Given the description of an element on the screen output the (x, y) to click on. 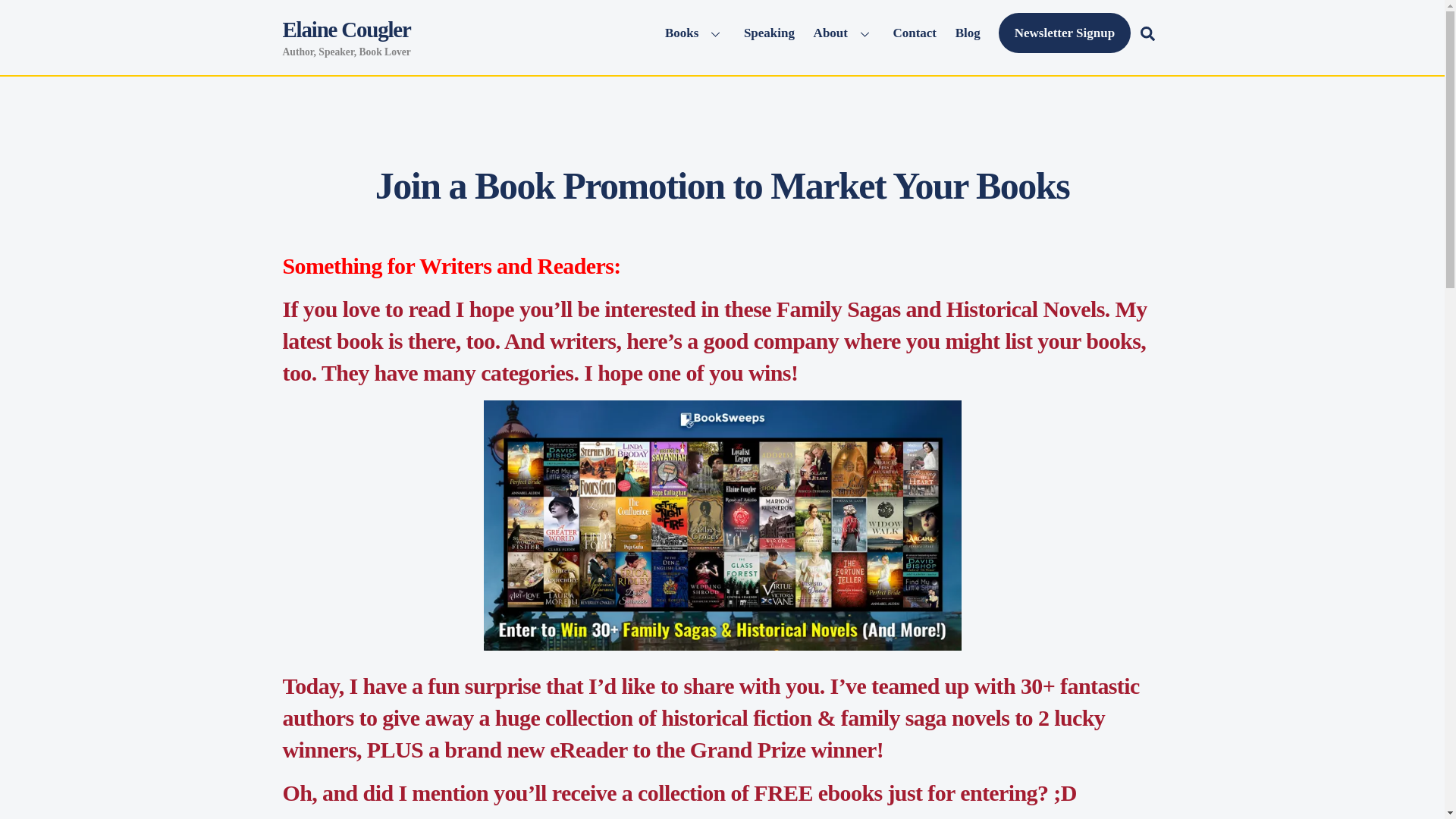
Contact (721, 33)
Join a Book Promotion to Market Your Books (914, 33)
Speaking (721, 185)
Blog (769, 33)
Search (967, 33)
Elaine Cougler (1146, 32)
Books (346, 29)
About (695, 33)
Elaine Cougler (843, 33)
